Given the description of an element on the screen output the (x, y) to click on. 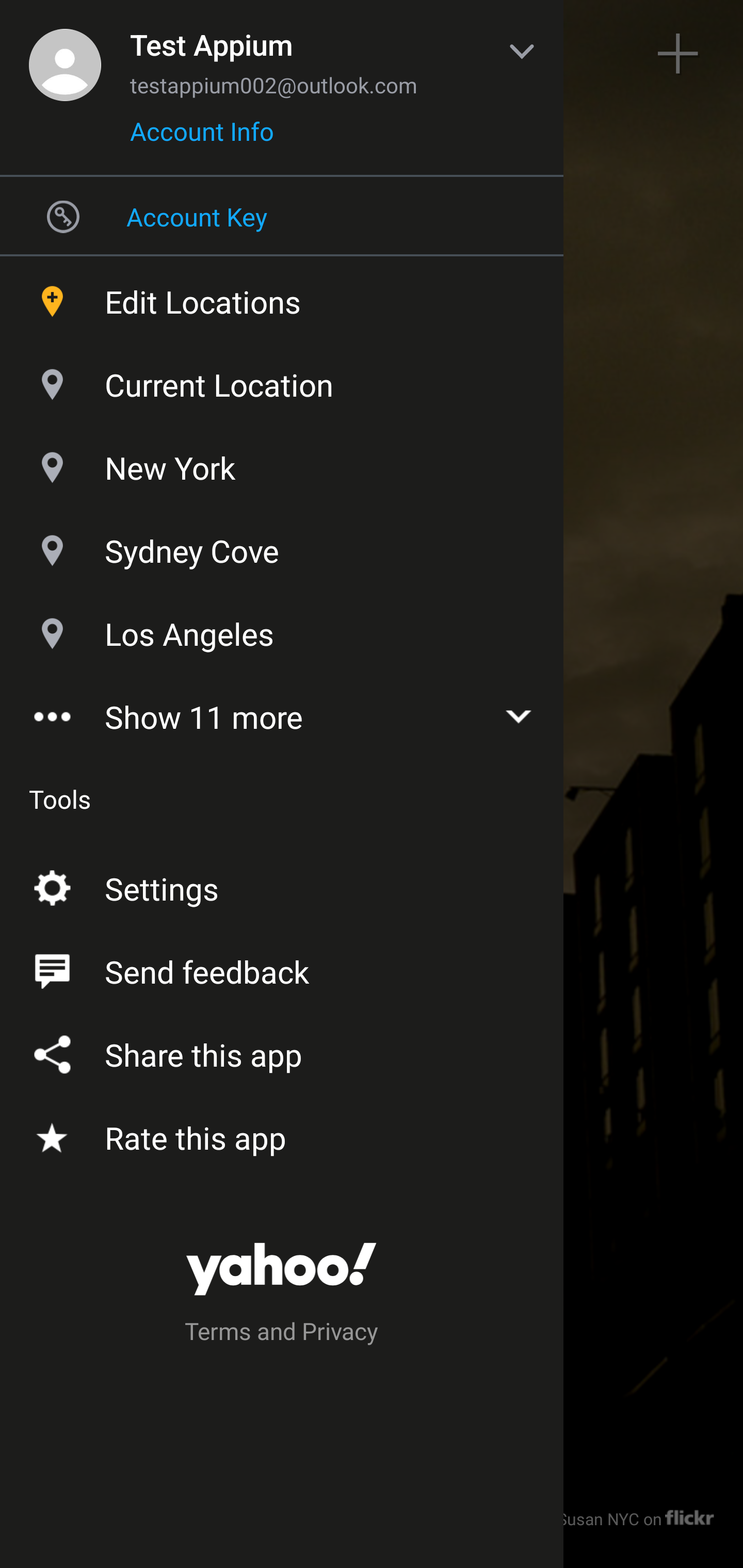
Sidebar (64, 54)
Account Info (202, 137)
Account Key (281, 216)
Edit Locations (281, 296)
Current Location (281, 379)
New York (281, 462)
Sydney Cove (281, 546)
Los Angeles (281, 629)
Settings (281, 884)
Send feedback (281, 967)
Share this app (281, 1050)
Terms and Privacy Terms and privacy button (281, 1334)
